Given the description of an element on the screen output the (x, y) to click on. 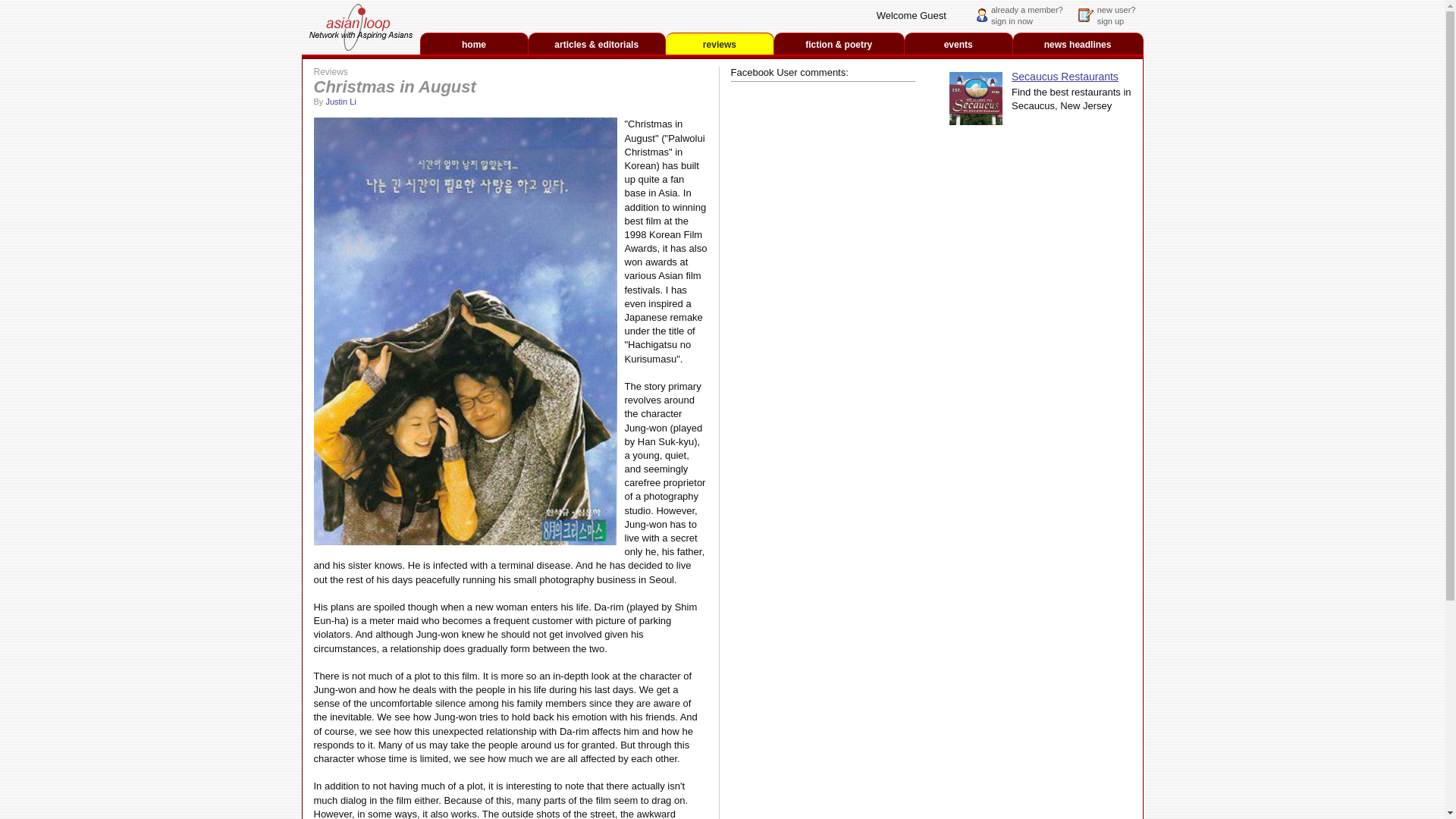
Reviews (330, 71)
Secaucus Restaurants (1064, 76)
Secaucus Restaurants (976, 98)
home (473, 44)
Justin Li (339, 101)
news headlines (1026, 14)
reviews (1077, 44)
events (719, 44)
